Given the description of an element on the screen output the (x, y) to click on. 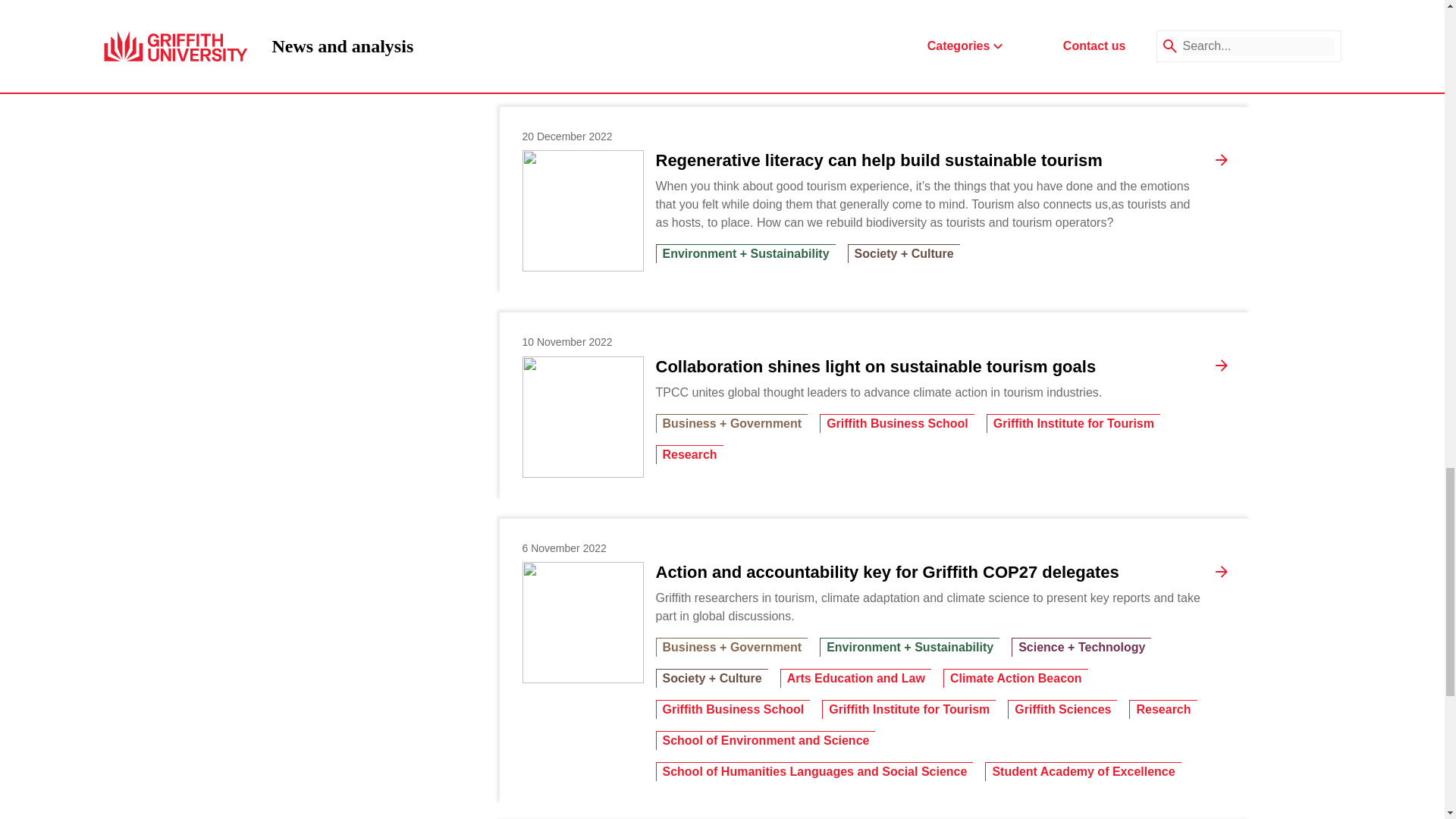
Action and accountability key for Griffith COP27 delegates (582, 622)
Regenerative literacy can help build sustainable tourism (582, 210)
Regenerative literacy can help build sustainable tourism (878, 160)
Action and accountability key for Griffith COP27 delegates (886, 572)
Collaboration shines light on sustainable tourism goals (582, 416)
Collaboration shines light on sustainable tourism goals (875, 366)
